Given the description of an element on the screen output the (x, y) to click on. 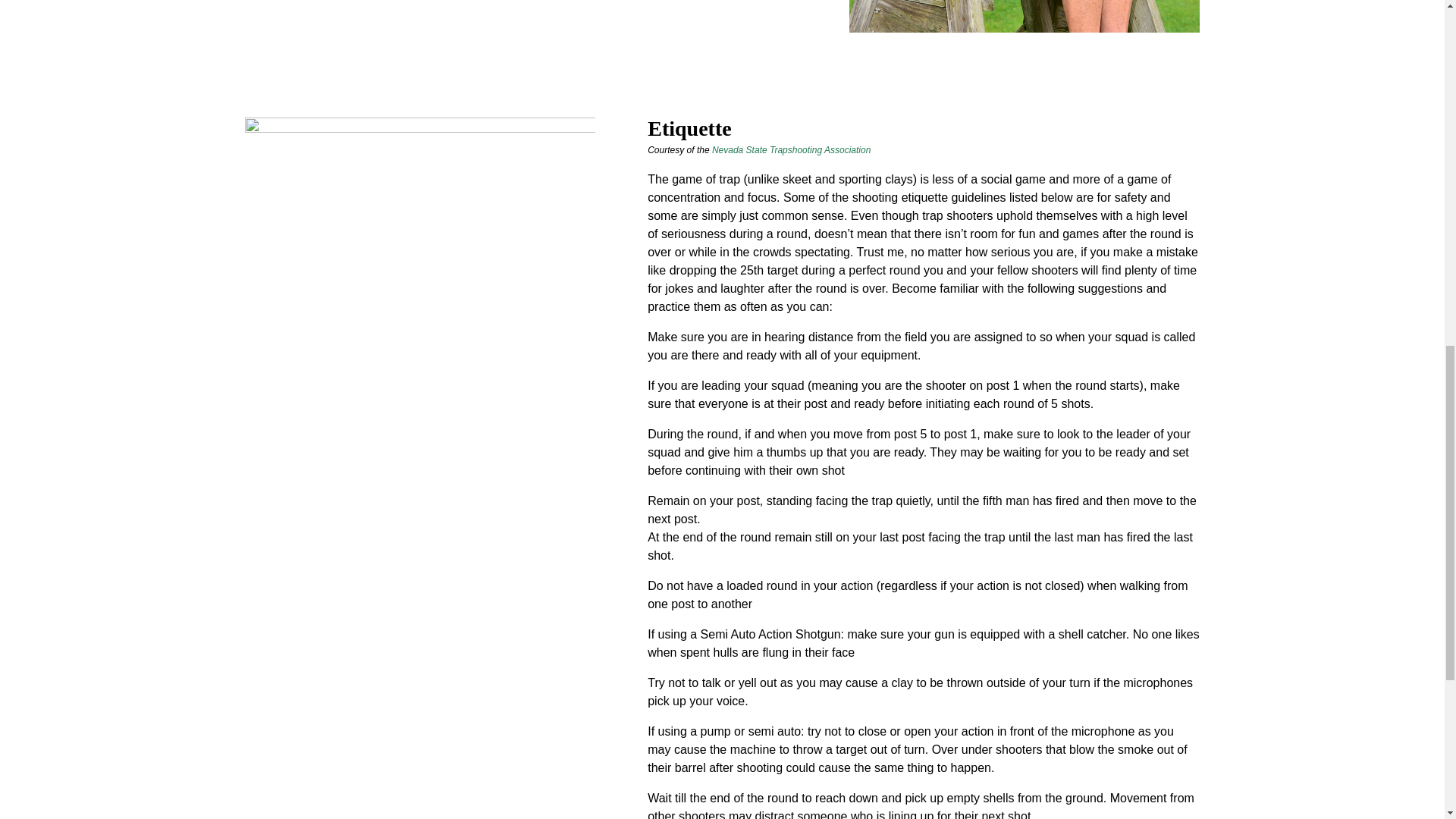
Nevada State Trapshooting Association (790, 149)
